Given the description of an element on the screen output the (x, y) to click on. 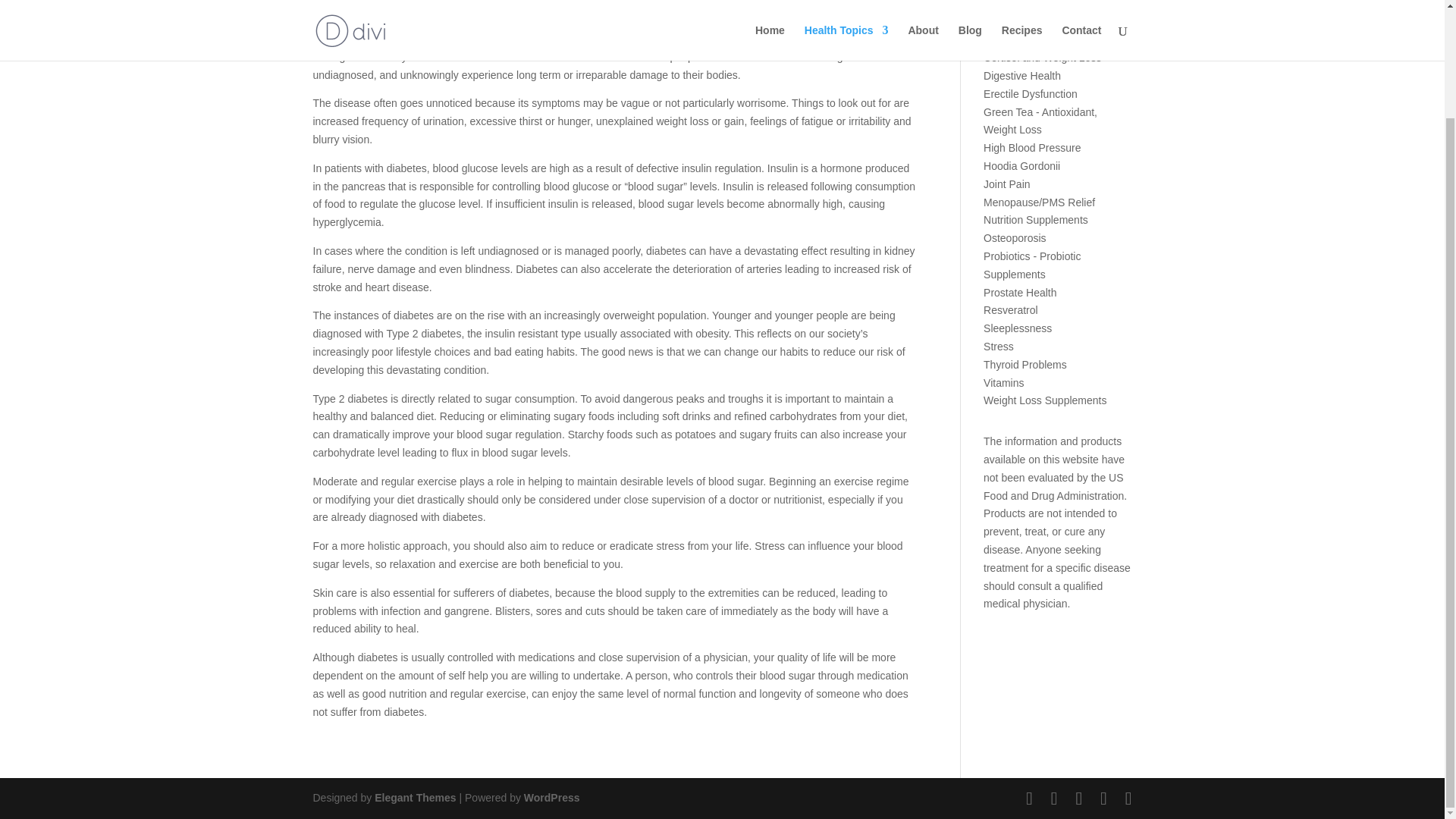
Premium WordPress Themes (414, 797)
